Given the description of an element on the screen output the (x, y) to click on. 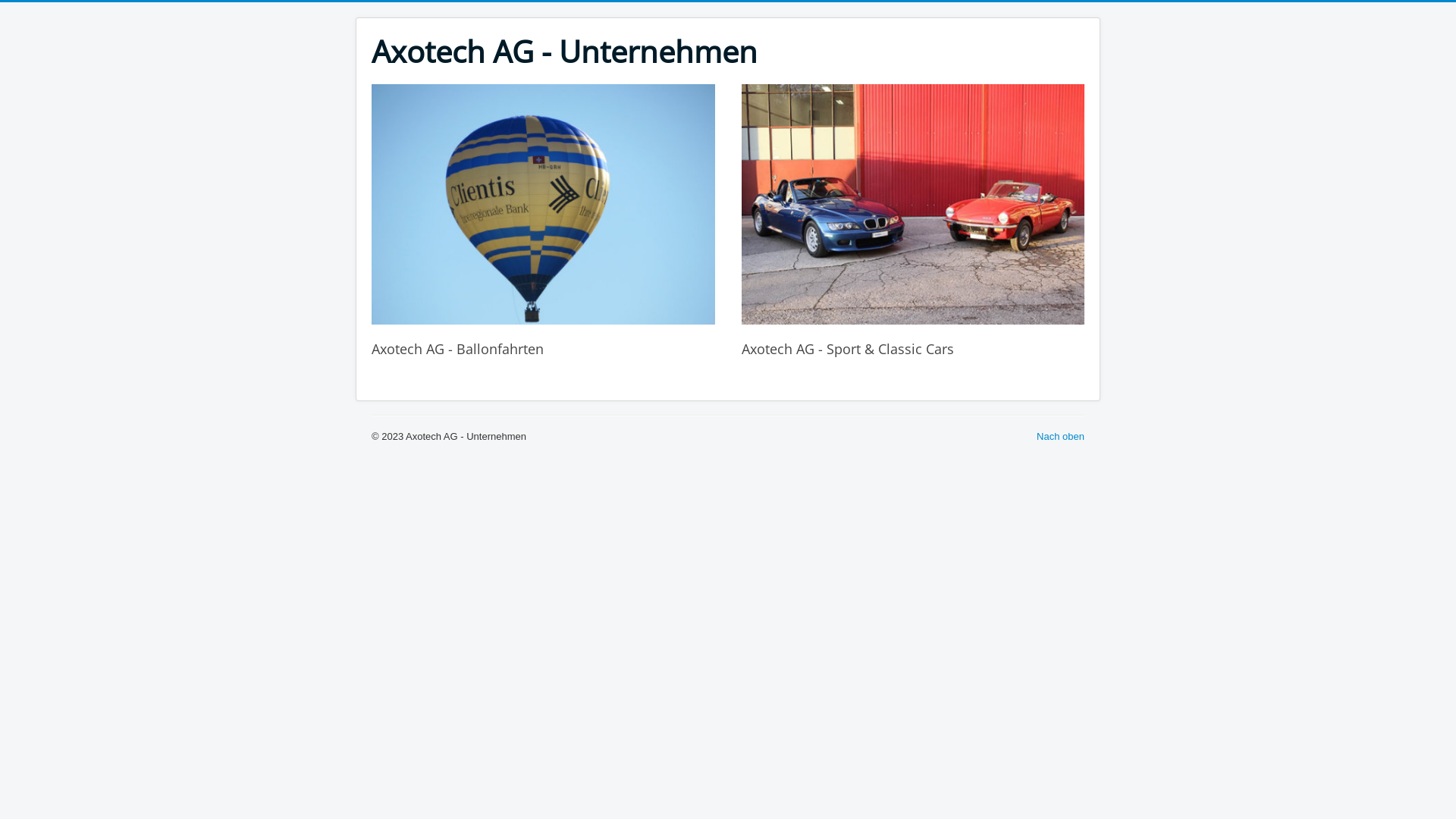
Axotech AG - Ballonfahrten Element type: text (457, 348)
Axotech AG - Sport & Classic Cars Element type: hover (913, 204)
Axotech AG - Ballonfahrten Element type: hover (543, 204)
Axotech AG - Sport & Classic Cars Element type: text (847, 348)
Nach oben Element type: text (1060, 436)
Axotech AG - Unternehmen Element type: text (564, 51)
